Given the description of an element on the screen output the (x, y) to click on. 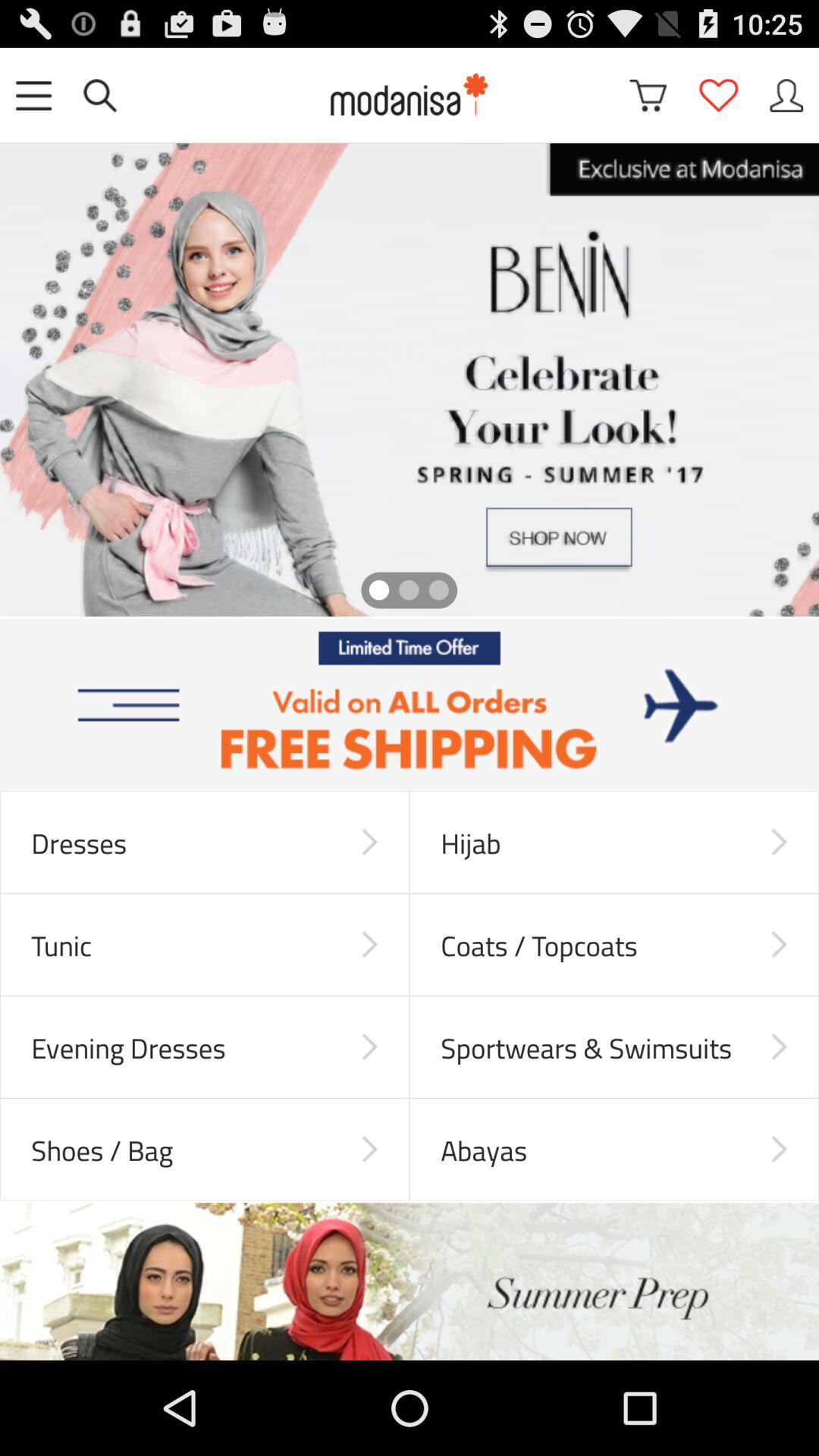
add to cart (647, 95)
